Given the description of an element on the screen output the (x, y) to click on. 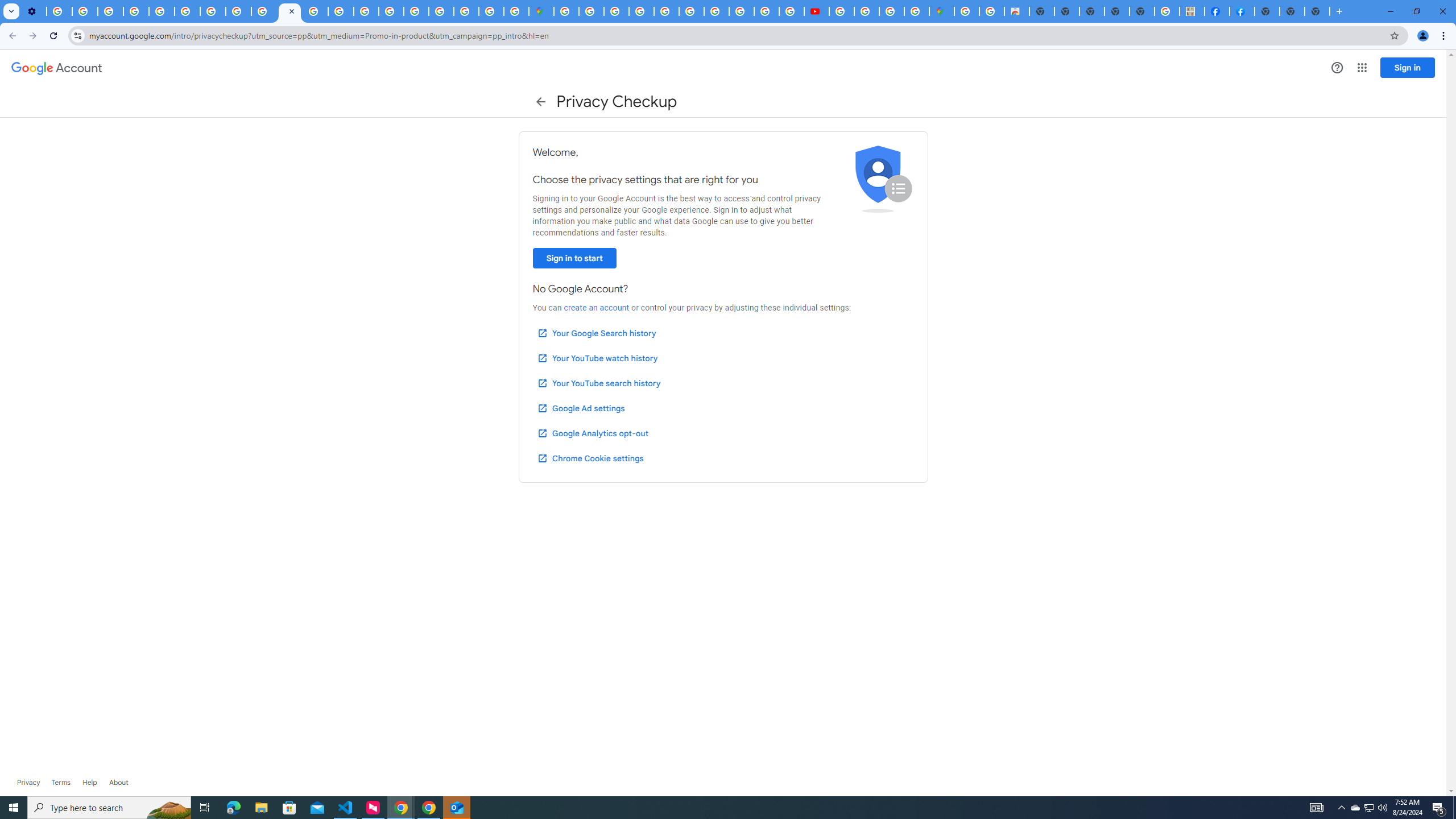
New Tab (1266, 11)
Chrome Cookie settings (589, 457)
Settings - Customize profile (34, 11)
Sign in - Google Accounts (565, 11)
Privacy Checkup (289, 11)
Delete photos & videos - Computer - Google Photos Help (59, 11)
Sign in - Google Accounts (440, 11)
Sign in to start (573, 258)
